Given the description of an element on the screen output the (x, y) to click on. 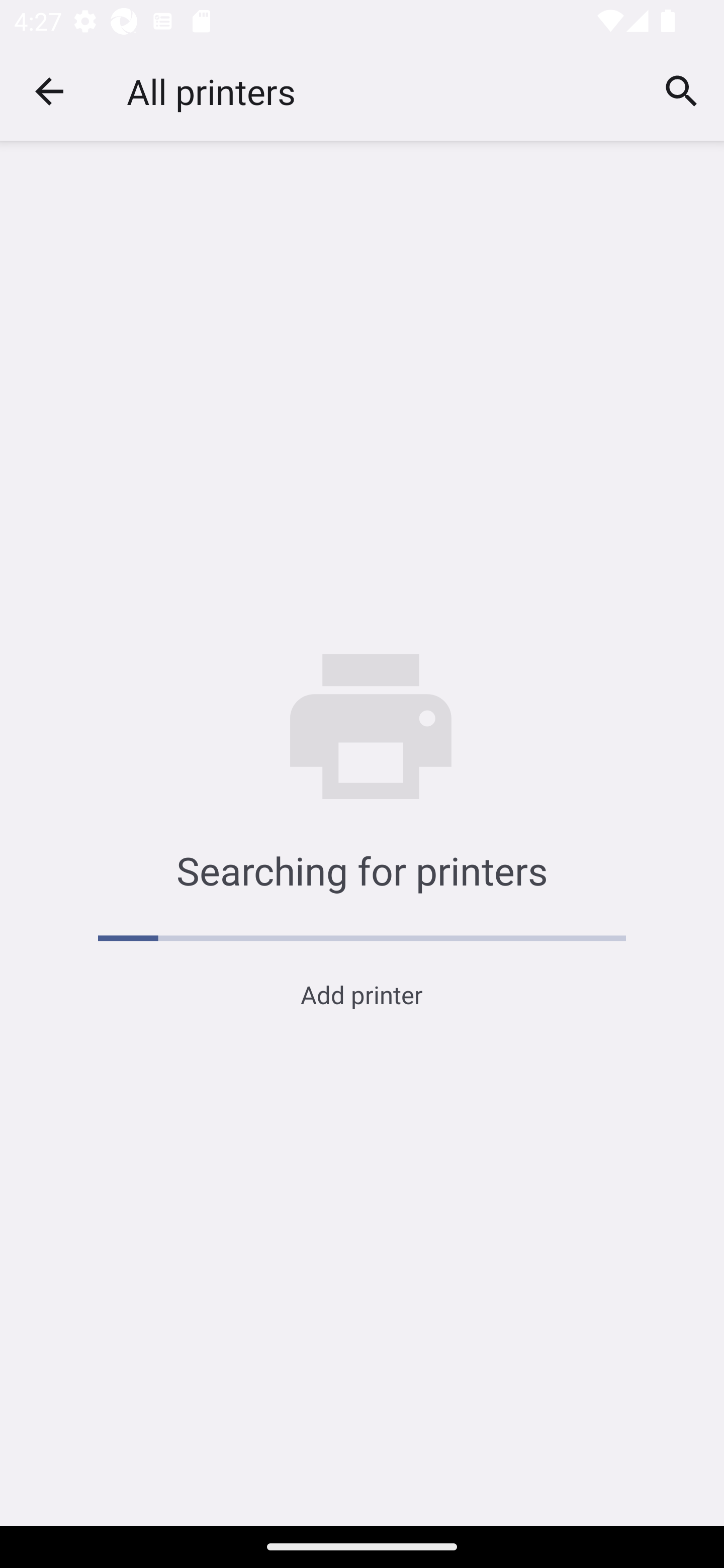
Navigate up (49, 91)
Search (681, 90)
Add printer (361, 993)
